Given the description of an element on the screen output the (x, y) to click on. 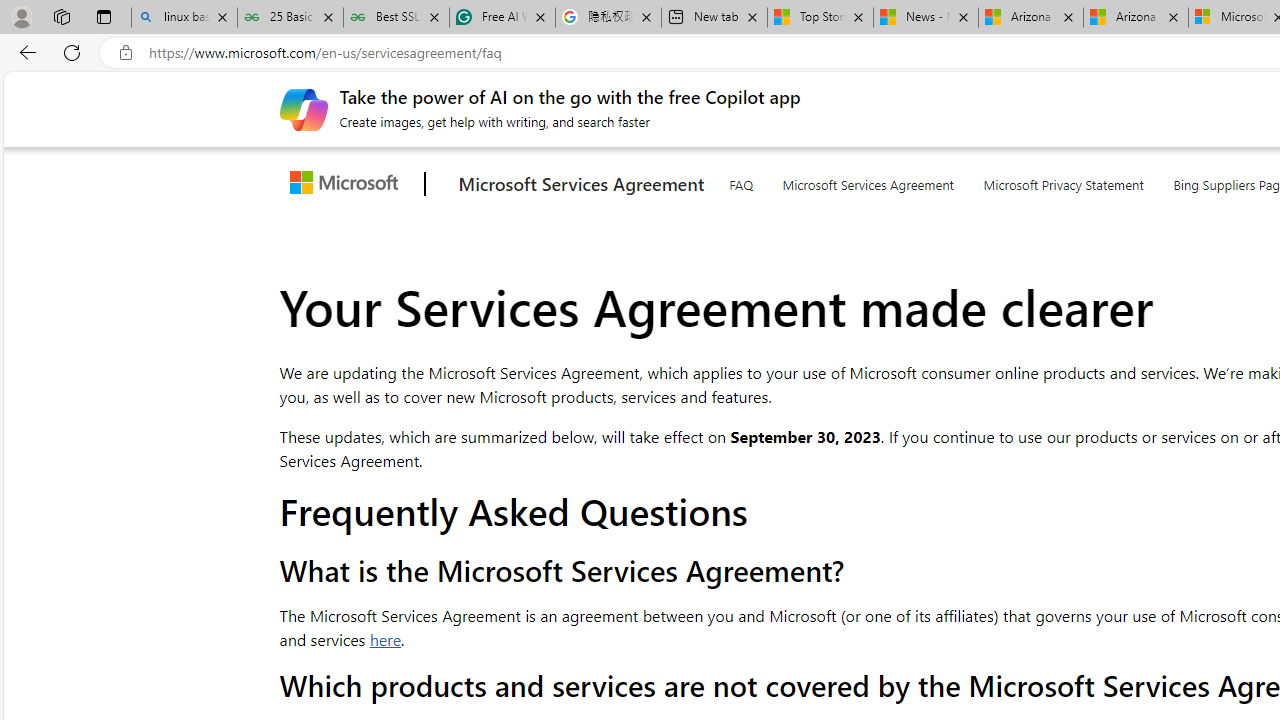
News - MSN (925, 17)
Free AI Writing Assistance for Students | Grammarly (502, 17)
FAQ (740, 180)
Best SSL Certificates Provider in India - GeeksforGeeks (396, 17)
Create images, get help with writing, and search faster (303, 108)
Microsoft Privacy Statement (1063, 181)
